Given the description of an element on the screen output the (x, y) to click on. 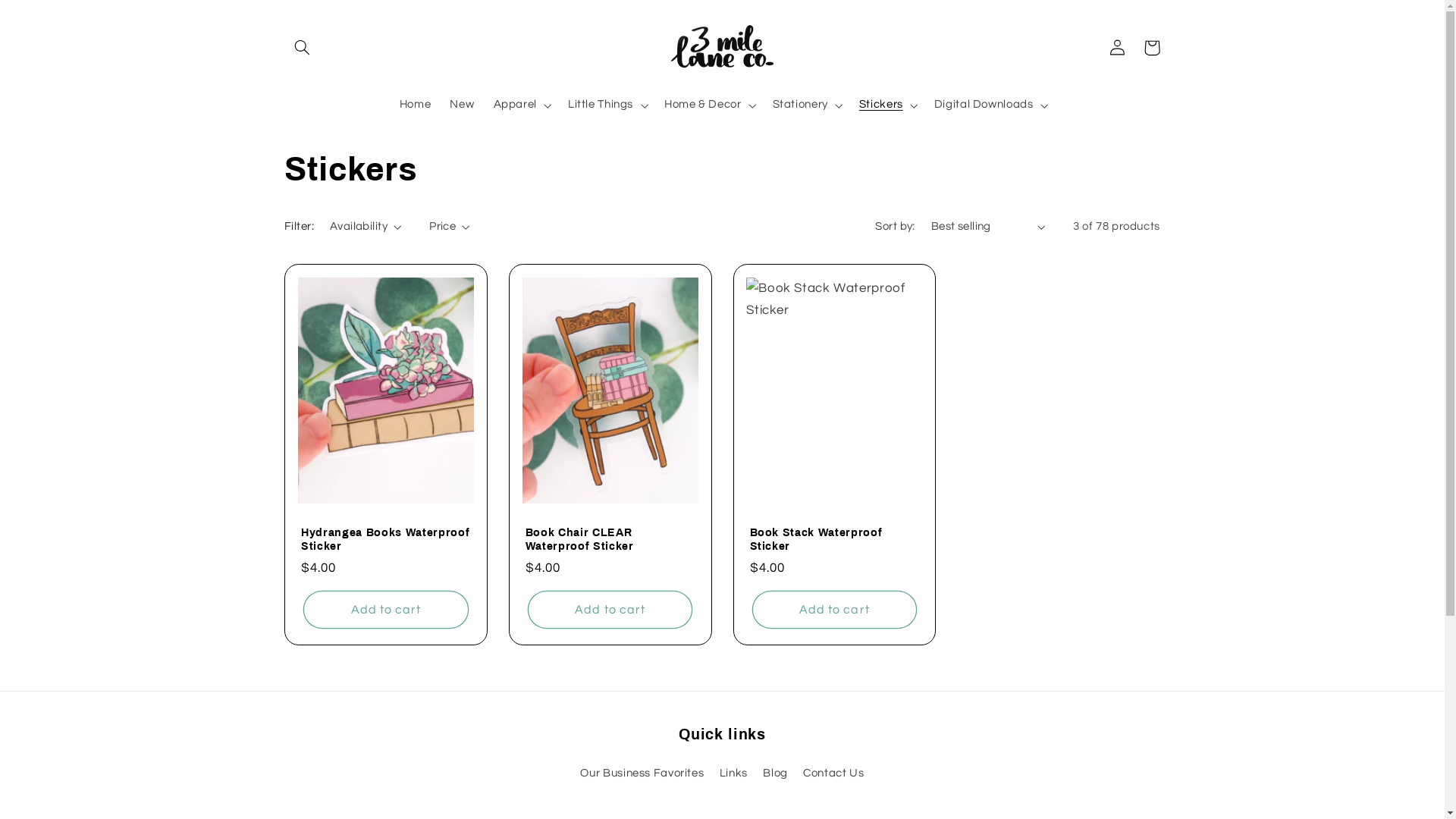
New Element type: text (461, 105)
Add to cart Element type: text (609, 608)
Book Stack Waterproof Sticker Element type: text (834, 539)
Add to cart Element type: text (385, 608)
Log in Element type: text (1116, 47)
Our Business Favorites Element type: text (641, 775)
Cart Element type: text (1151, 47)
Blog Element type: text (774, 773)
Links Element type: text (733, 773)
Book Chair CLEAR Waterproof Sticker Element type: text (610, 539)
Contact Us Element type: text (833, 773)
Add to cart Element type: text (834, 608)
Hydrangea Books Waterproof Sticker Element type: text (385, 539)
Home Element type: text (414, 105)
